Given the description of an element on the screen output the (x, y) to click on. 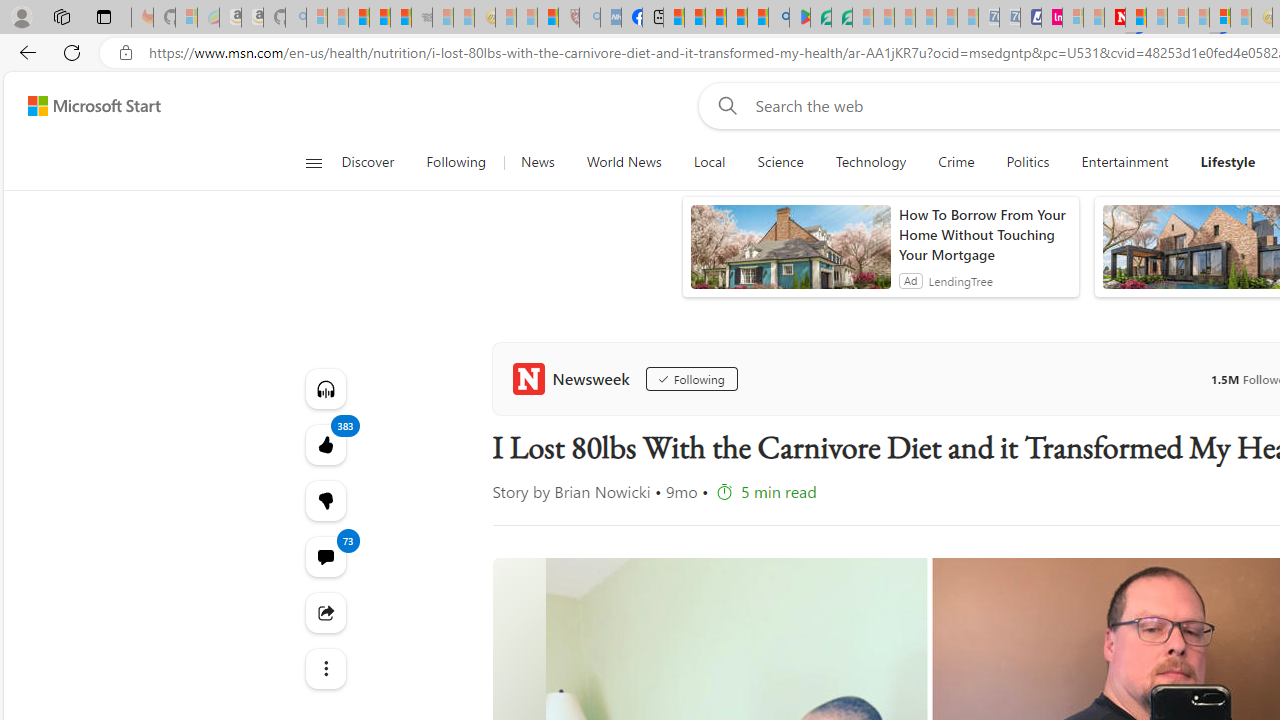
Terms of Use Agreement (820, 17)
Microsoft Start - Sleeping (1094, 17)
Offline games - Android Apps on Google Play (799, 17)
Microsoft Word - consumer-privacy address update 2.2021 (842, 17)
Local - MSN (547, 17)
World News (623, 162)
Technology (870, 162)
Open navigation menu (313, 162)
Tab actions menu (104, 16)
Ad (909, 280)
Skip to footer (82, 105)
